Given the description of an element on the screen output the (x, y) to click on. 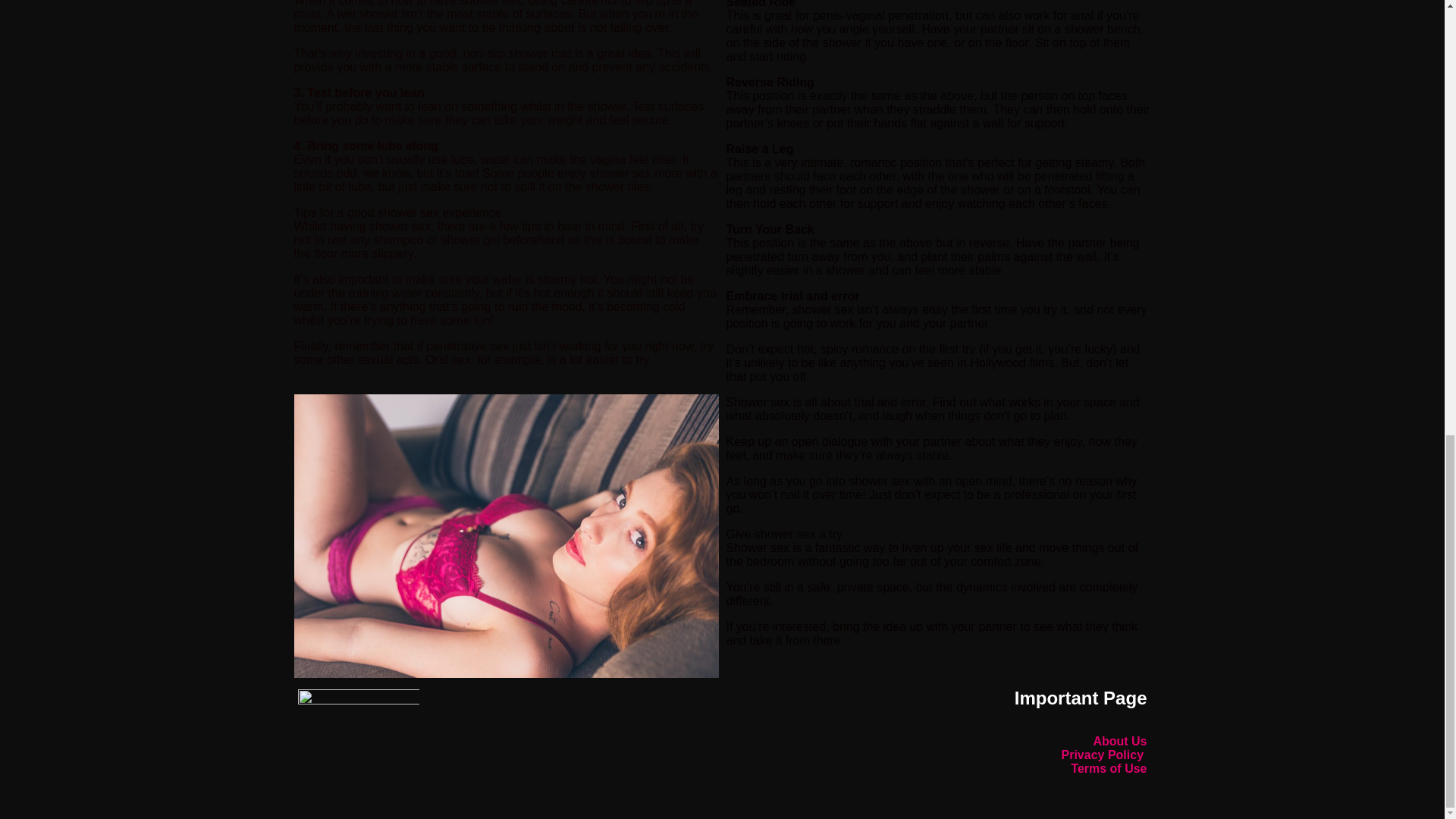
About Us (1120, 740)
Privacy Policy  (1104, 754)
Terms of Use (1108, 768)
